Given the description of an element on the screen output the (x, y) to click on. 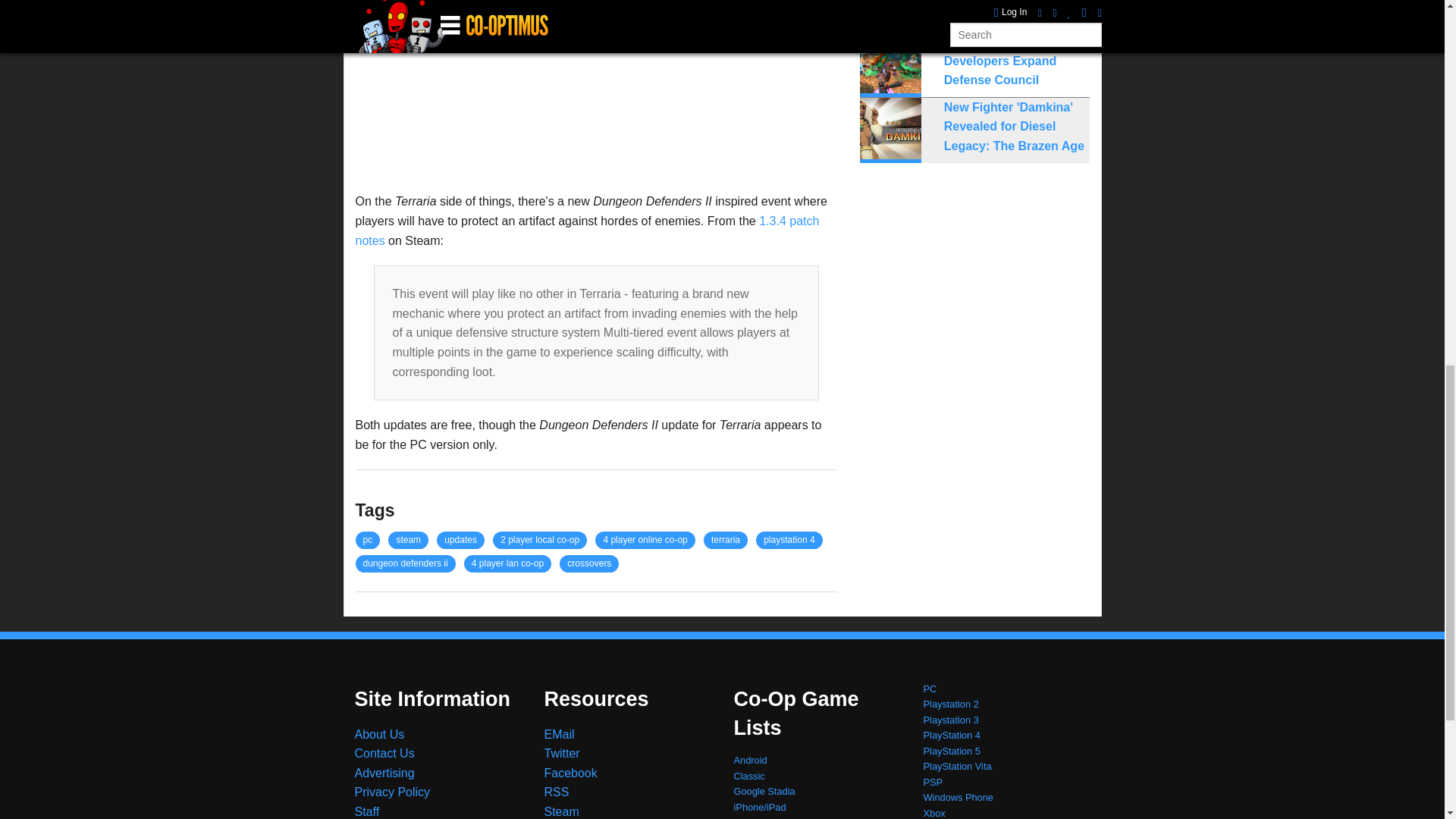
Advertising rates and traffic numbers. (384, 772)
Our current staff and bios. (367, 811)
Join our Steam Group! (561, 811)
